Given the description of an element on the screen output the (x, y) to click on. 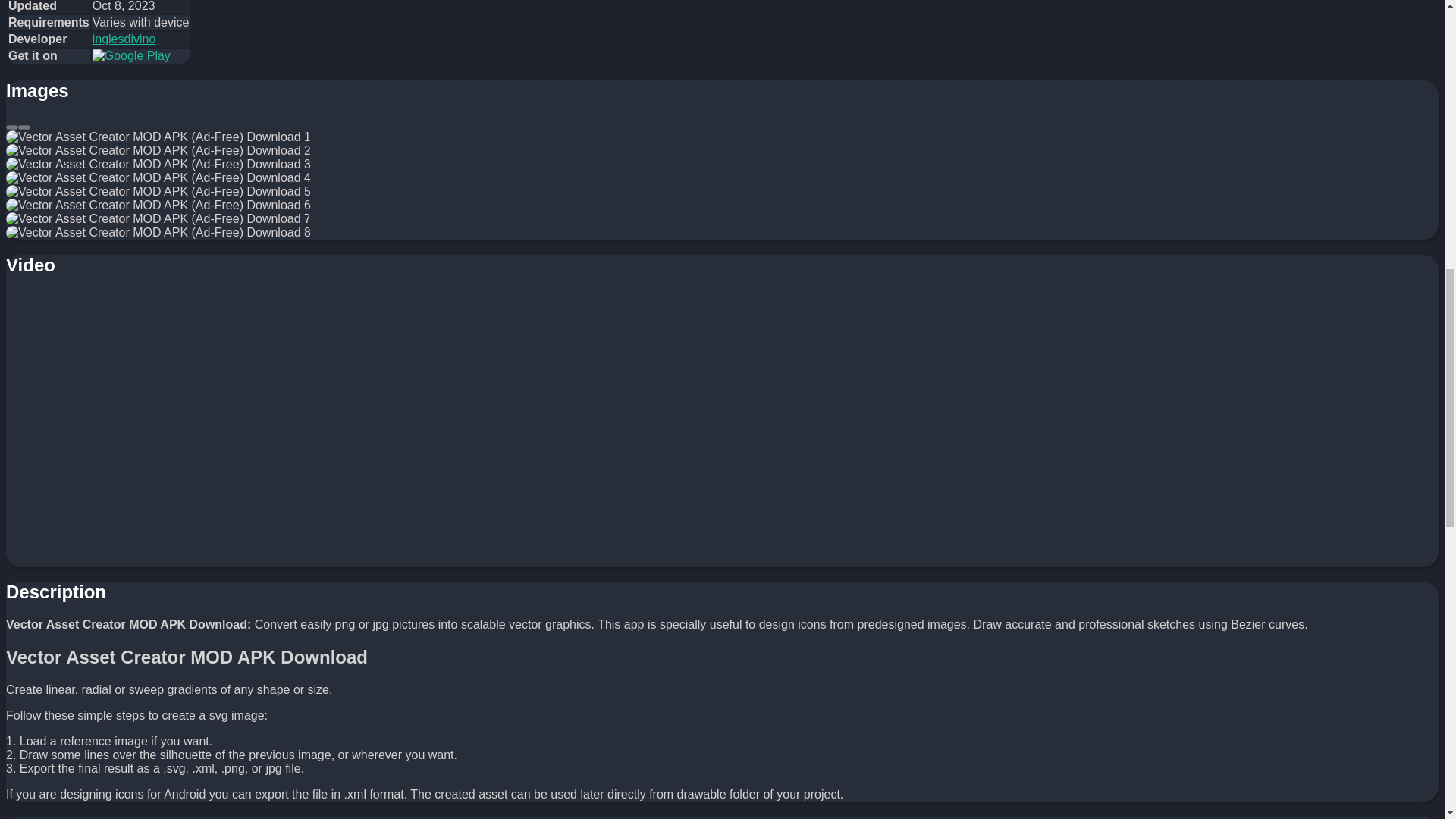
Next (23, 127)
Previous (11, 127)
